Given the description of an element on the screen output the (x, y) to click on. 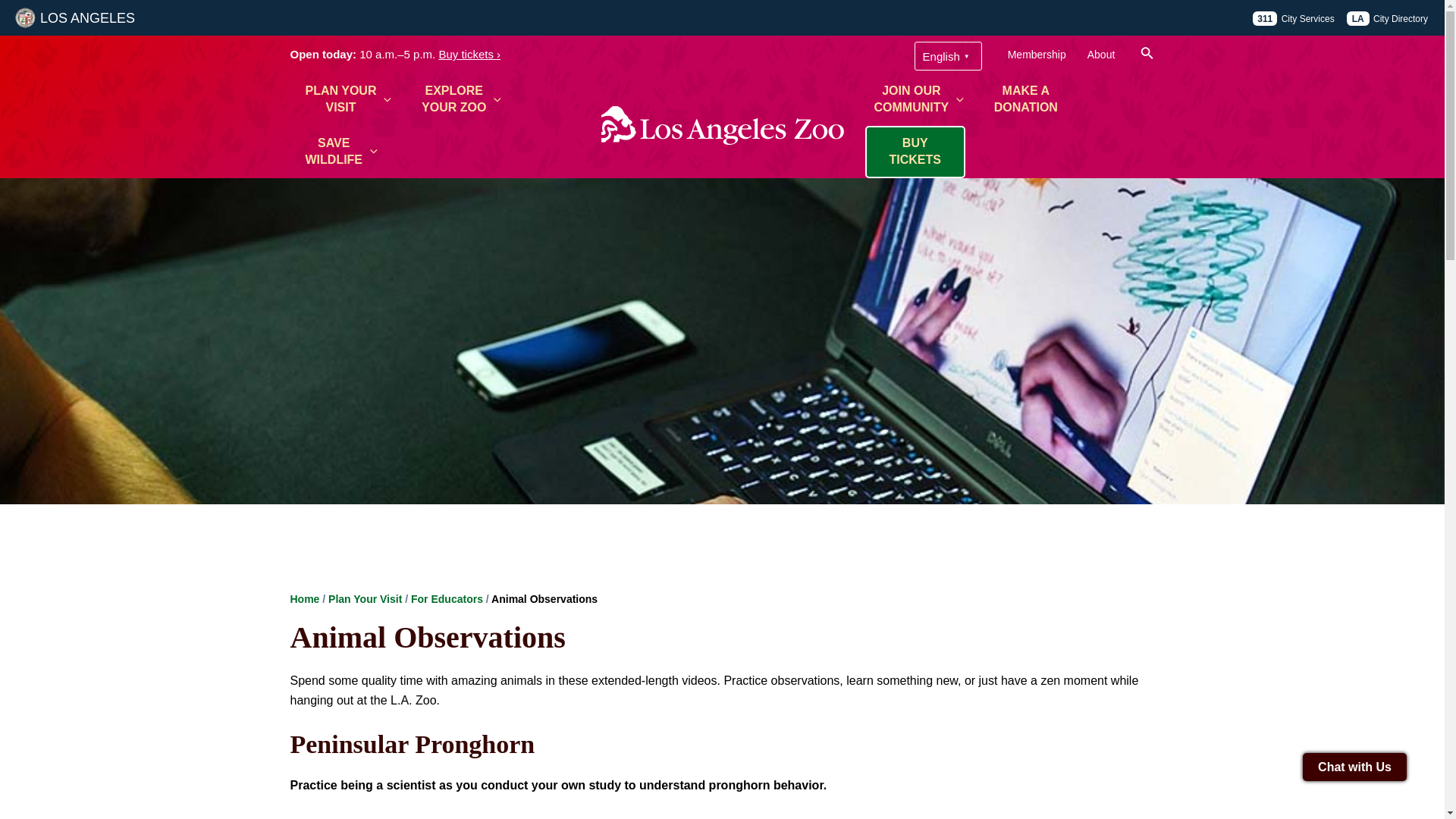
LA City Directory (1387, 18)
Membership (461, 99)
About (347, 99)
311 City Services (1037, 54)
